Given the description of an element on the screen output the (x, y) to click on. 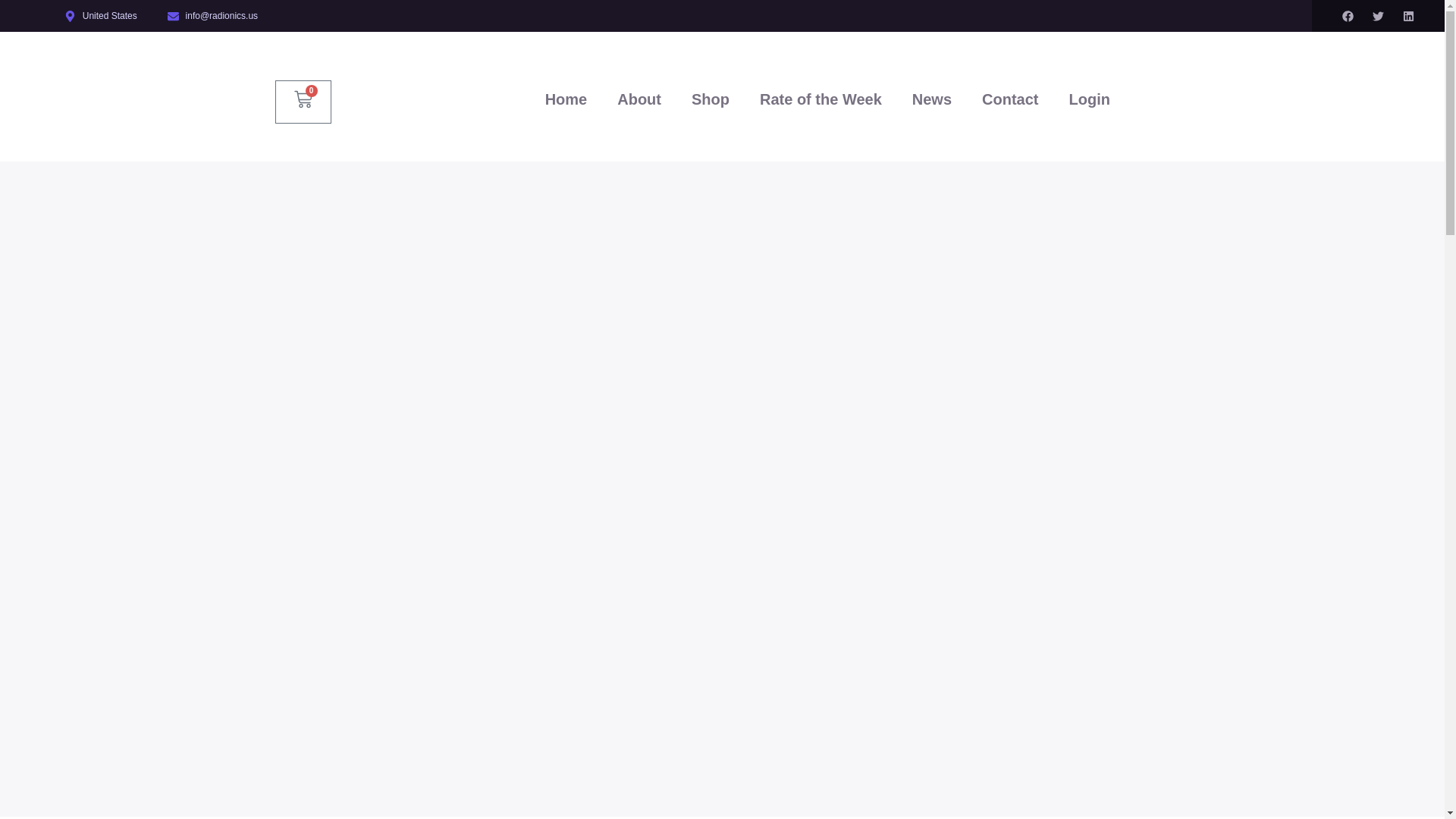
News (931, 98)
About (639, 98)
Contact (1009, 98)
Login (1088, 98)
0 (303, 101)
Home (565, 98)
Rate of the Week (820, 98)
Shop (710, 98)
